Given the description of an element on the screen output the (x, y) to click on. 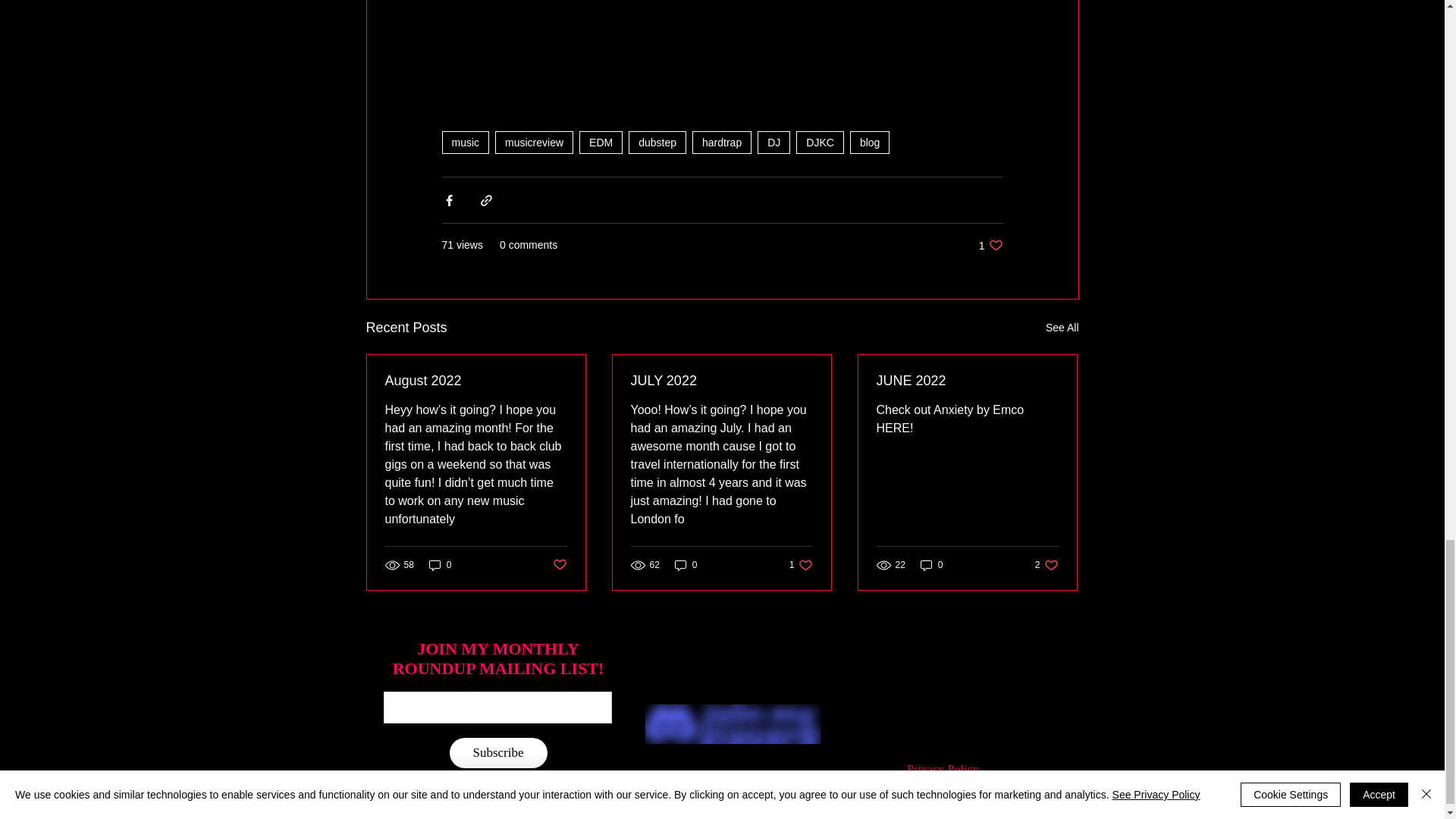
blog (869, 142)
music (465, 142)
See All (1061, 327)
dubstep (656, 142)
DJ (773, 142)
August 2022 (476, 381)
0 (440, 564)
hardtrap (722, 142)
musicreview (534, 142)
EDM (601, 142)
DJKC (990, 245)
